Given the description of an element on the screen output the (x, y) to click on. 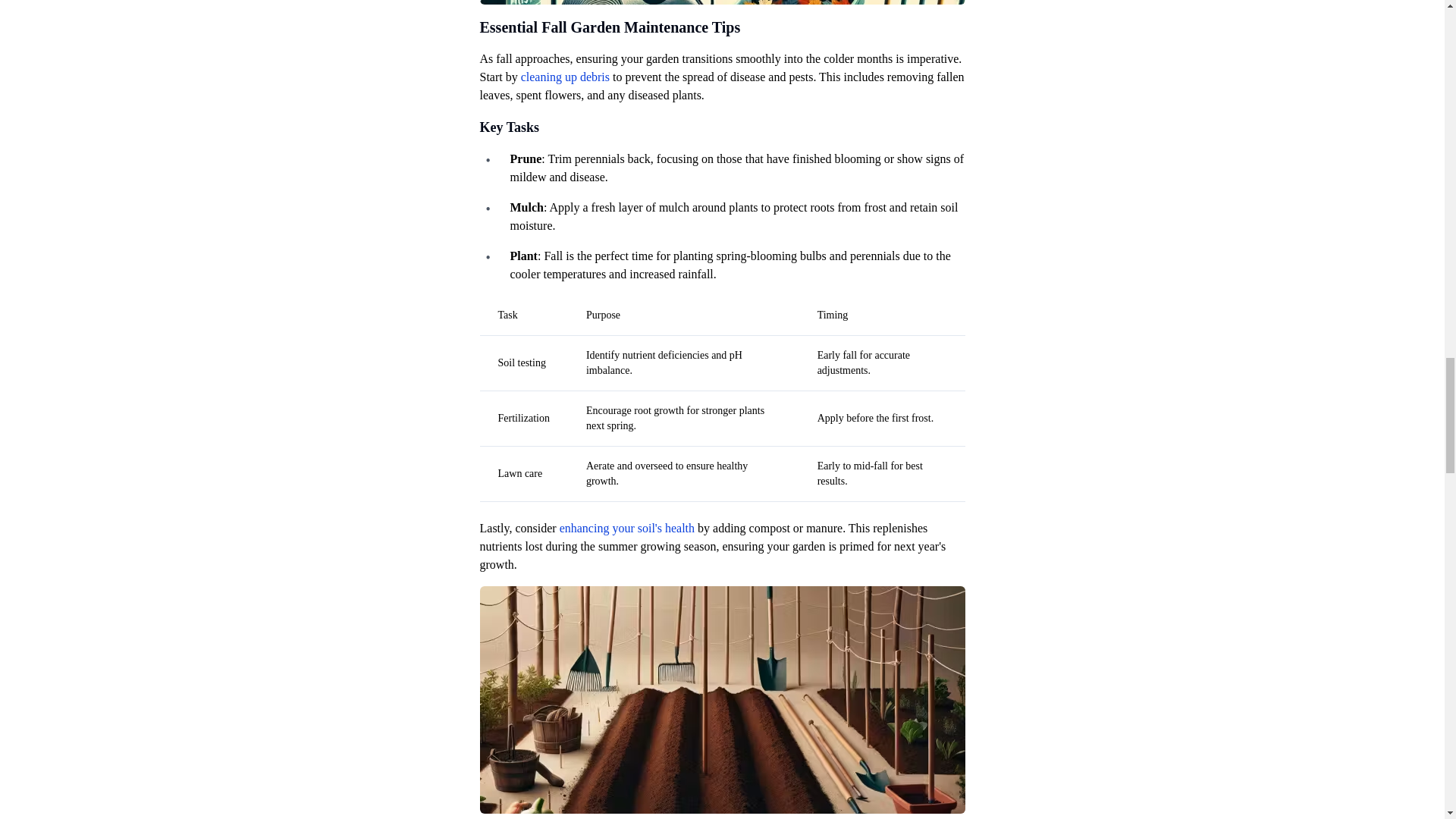
enhancing your soil's health (626, 527)
cleaning up debris (565, 76)
